Given the description of an element on the screen output the (x, y) to click on. 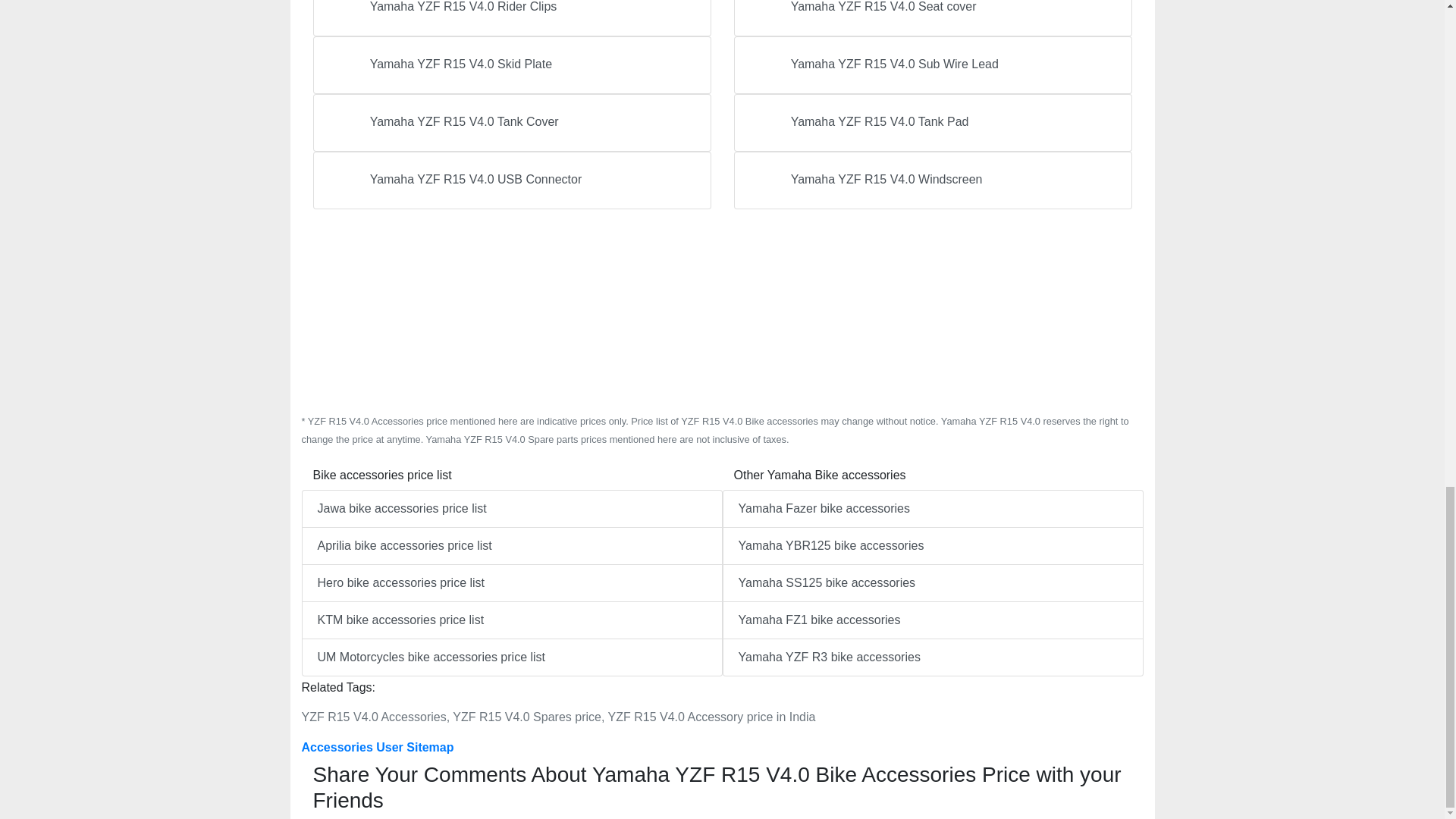
Yamaha YZF R15 V4.0 USB Connector (511, 180)
Yamaha YZF R15 V4.0 Skid Plate (511, 65)
KTM bike accessories price list (511, 620)
Yamaha YZF R3 bike accessories (932, 657)
Jawa bike accessories price list (511, 508)
Accessories User Sitemap (377, 747)
Aprilia bike accessories price list (511, 546)
Hero bike accessories price list (511, 582)
Yamaha YZF R15 V4.0 Windscreen (932, 180)
Yamaha SS125 bike accessories (932, 582)
